Given the description of an element on the screen output the (x, y) to click on. 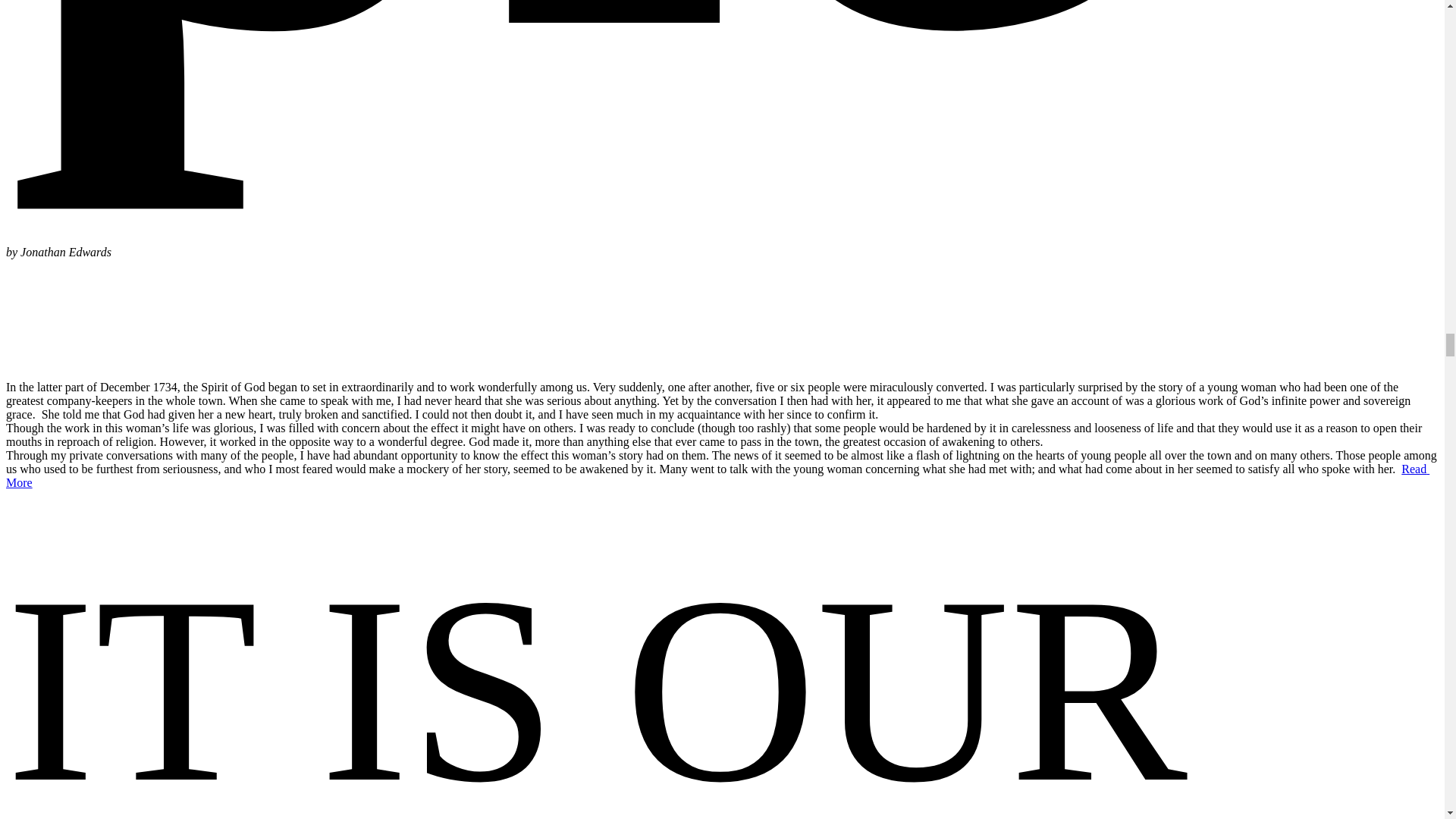
Read More (717, 475)
